Given the description of an element on the screen output the (x, y) to click on. 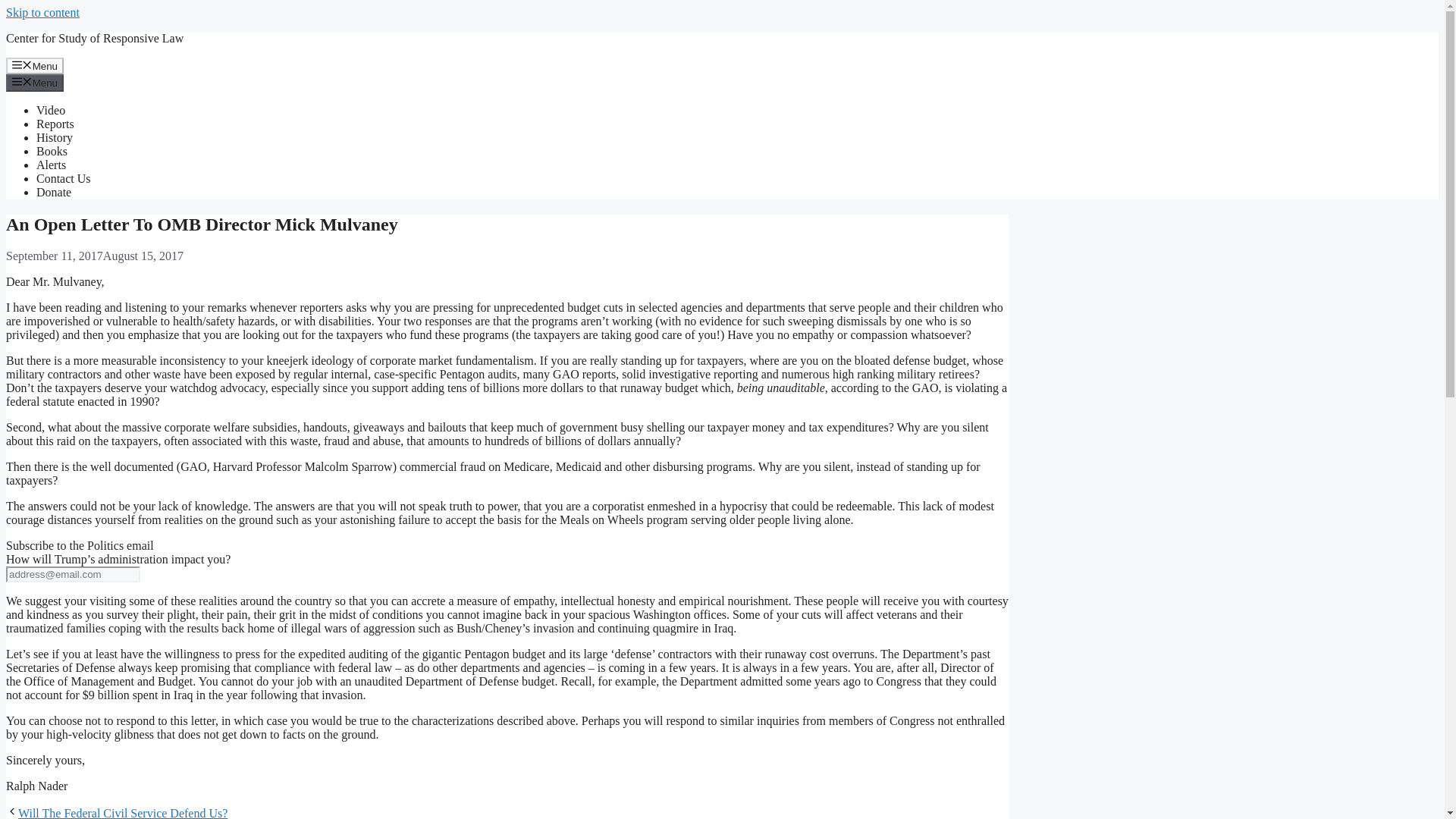
History (54, 137)
Menu (34, 82)
Enter your email (72, 574)
Donate (53, 192)
Video (50, 110)
Skip to content (42, 11)
Reports (55, 123)
Alerts (50, 164)
Center for Study of Responsive Law (94, 38)
Books (51, 151)
Will The Federal Civil Service Defend Us? (122, 812)
Menu (34, 65)
Contact Us (63, 178)
Skip to content (42, 11)
